Given the description of an element on the screen output the (x, y) to click on. 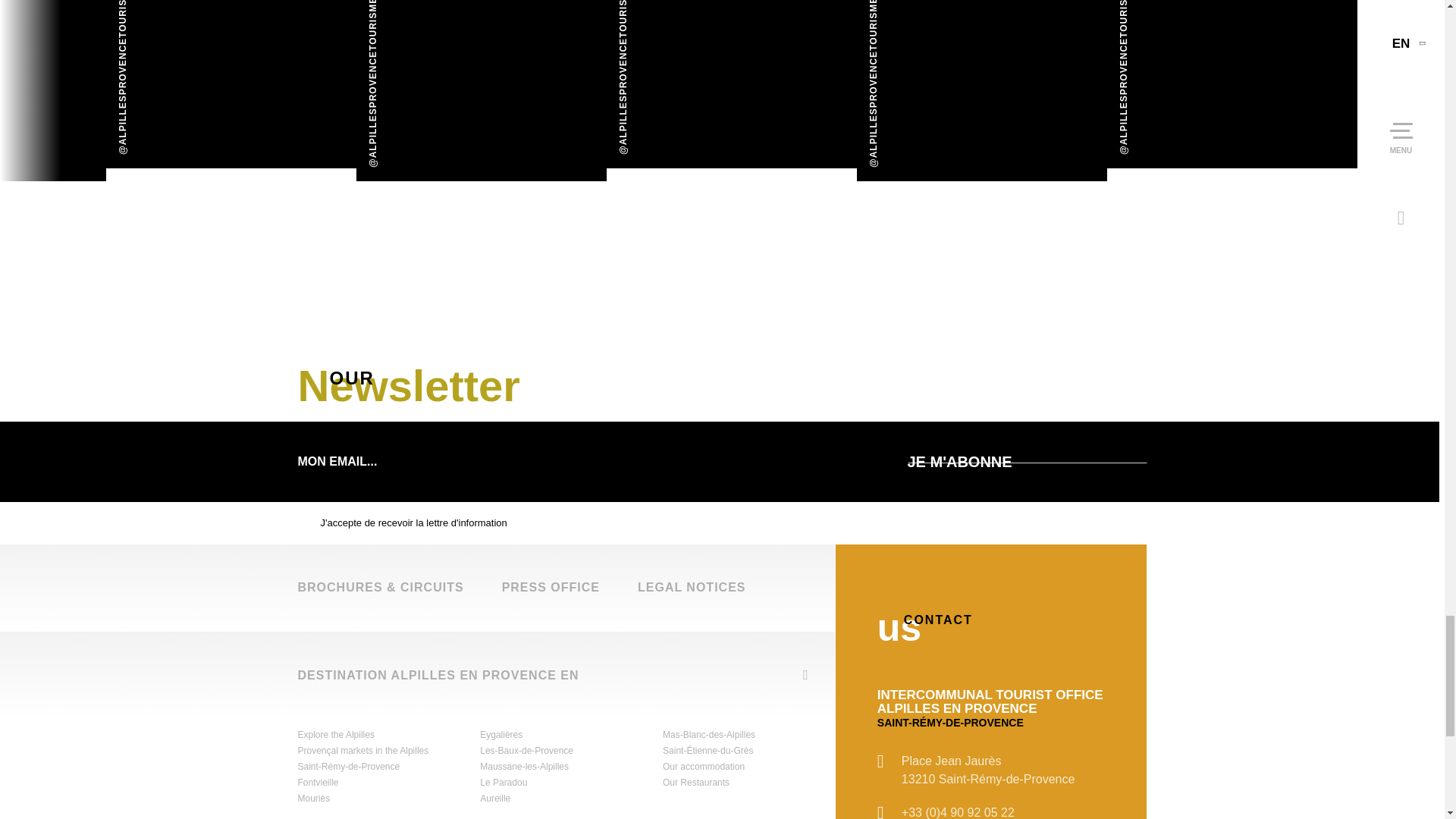
LEGAL NOTICES (691, 586)
PRESS OFFICE (550, 586)
JE M'ABONNE (1027, 461)
